Given the description of an element on the screen output the (x, y) to click on. 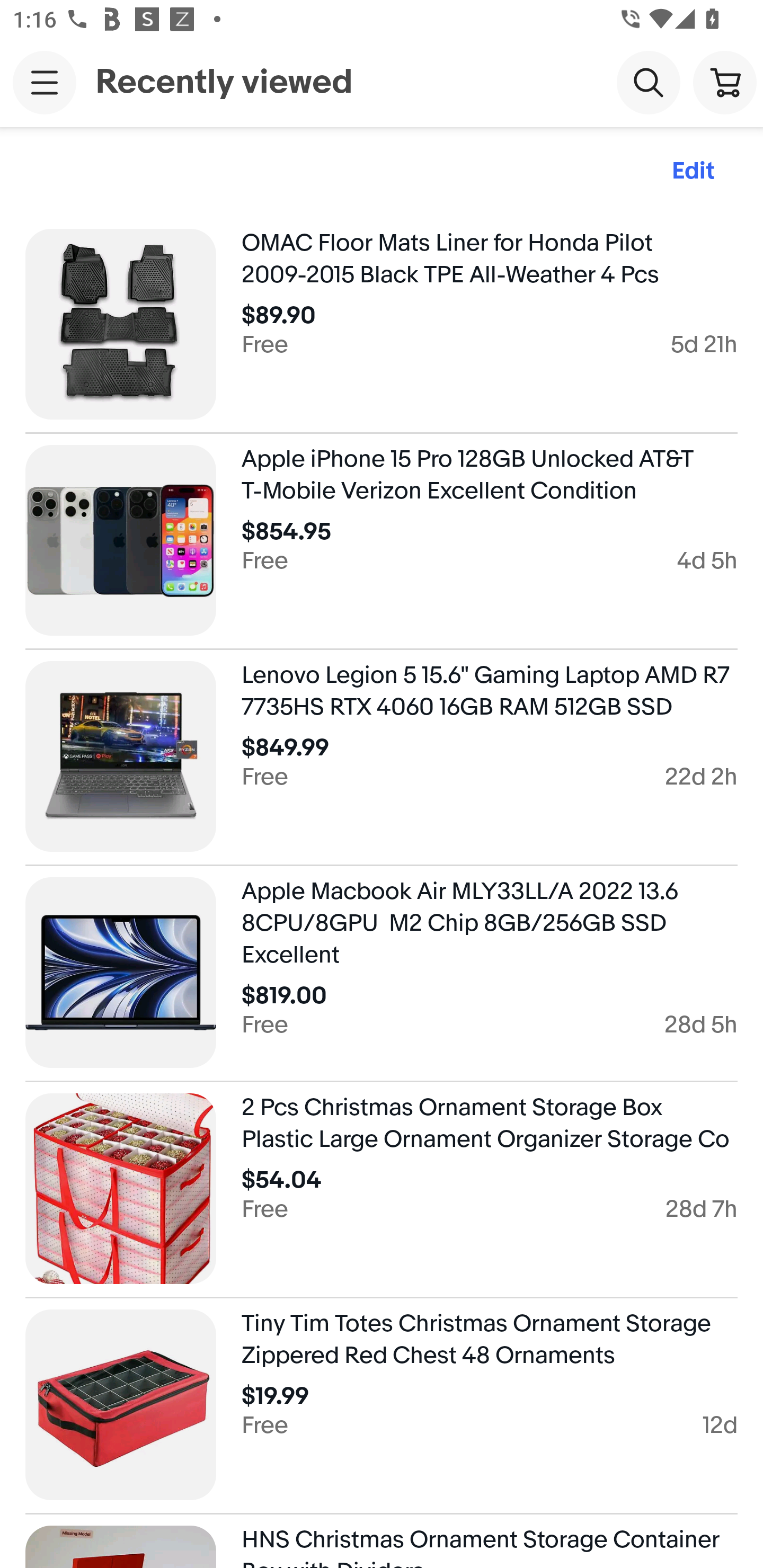
Main navigation, open (44, 82)
Search (648, 81)
Cart button shopping cart (724, 81)
Edit (693, 171)
